Given the description of an element on the screen output the (x, y) to click on. 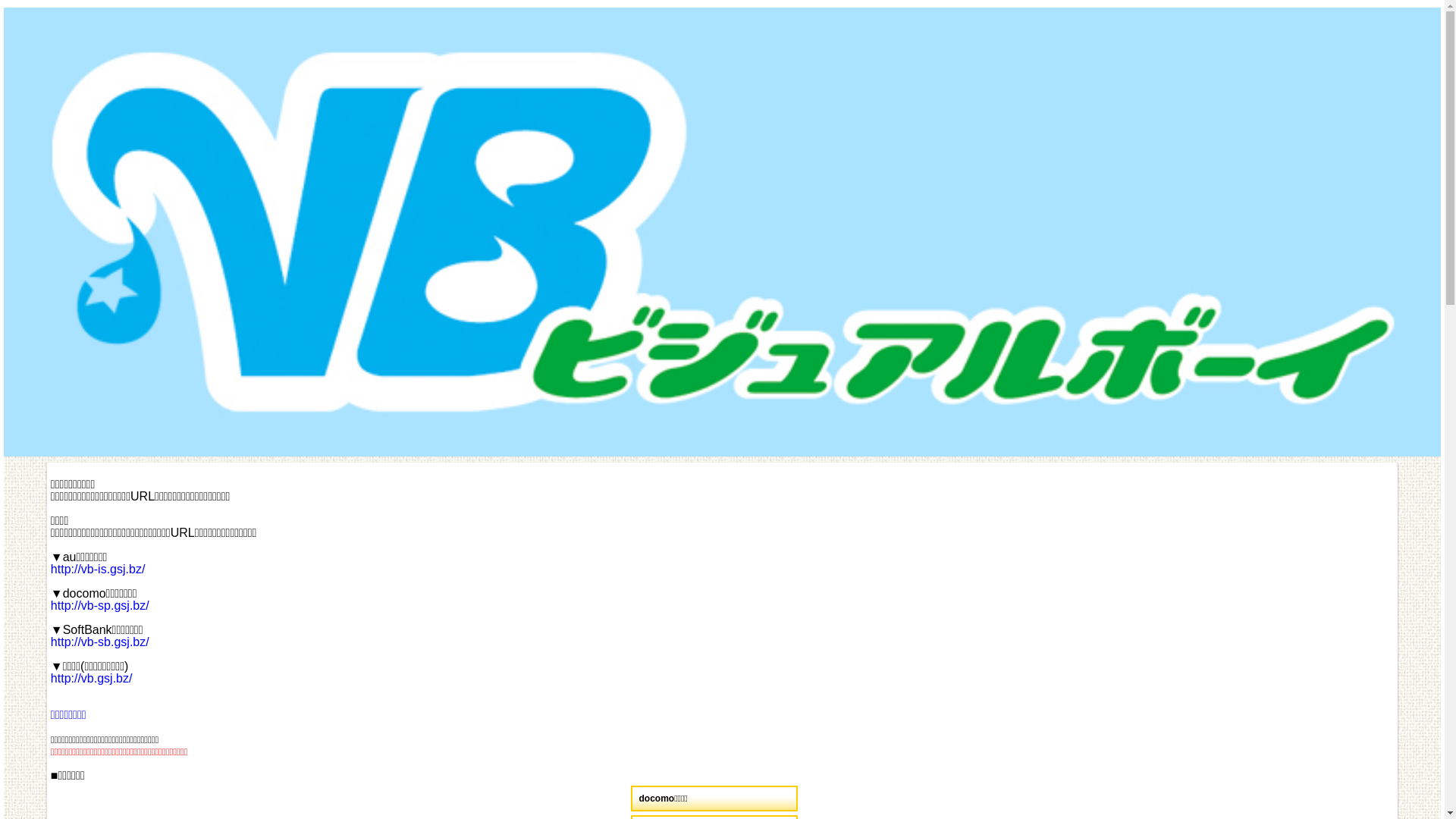
http://vb-is.gsj.bz/ Element type: text (97, 568)
http://vb-sb.gsj.bz/ Element type: text (99, 641)
http://vb-sp.gsj.bz/ Element type: text (99, 605)
http://vb.gsj.bz/ Element type: text (91, 677)
